Given the description of an element on the screen output the (x, y) to click on. 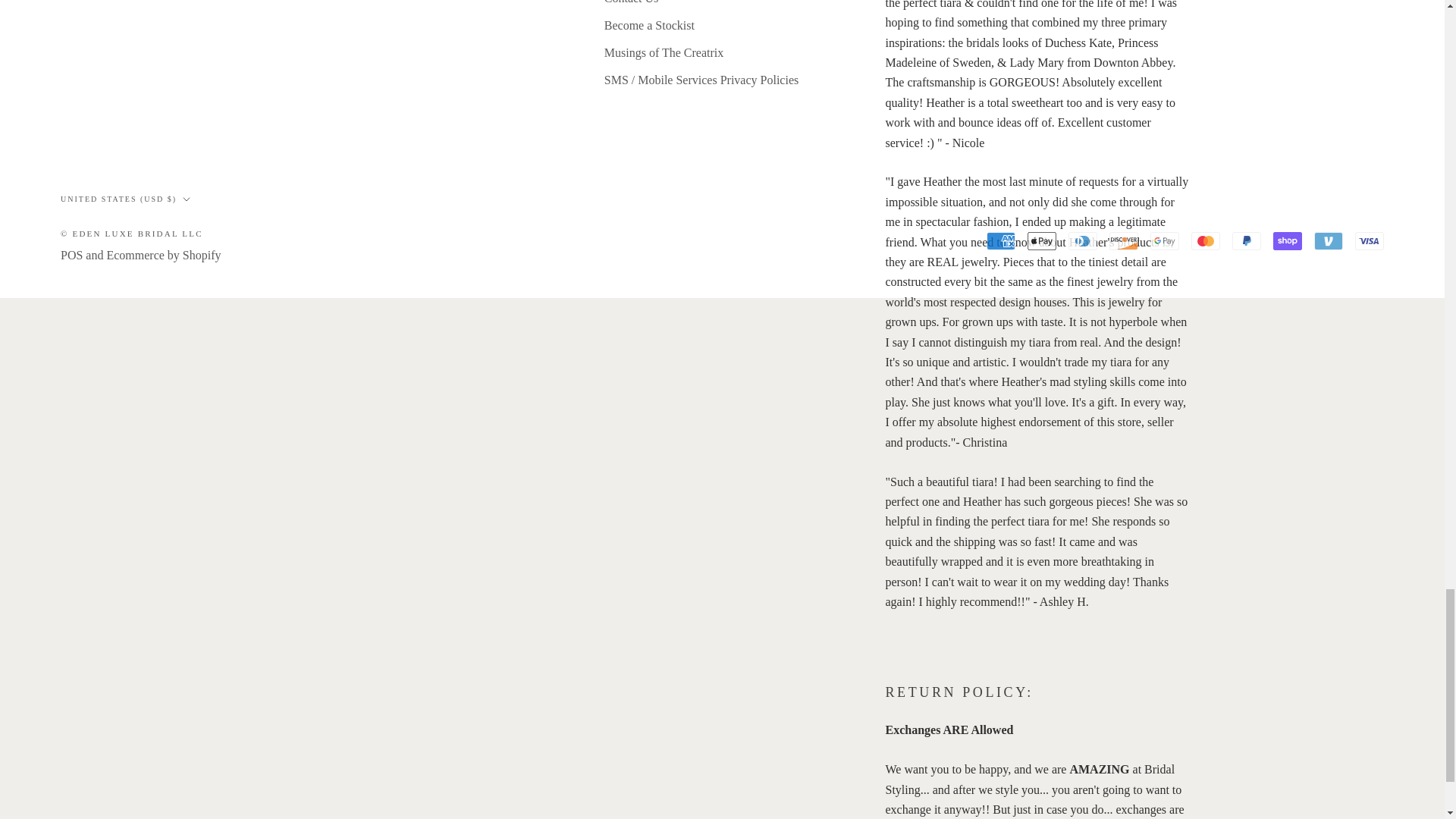
Diners Club (1082, 240)
Apple Pay (1042, 240)
Shop Pay (1286, 240)
Mastercard (1205, 240)
Discover (1123, 240)
Google Pay (1164, 240)
American Express (1000, 240)
PayPal (1245, 240)
Venmo (1328, 240)
